Given the description of an element on the screen output the (x, y) to click on. 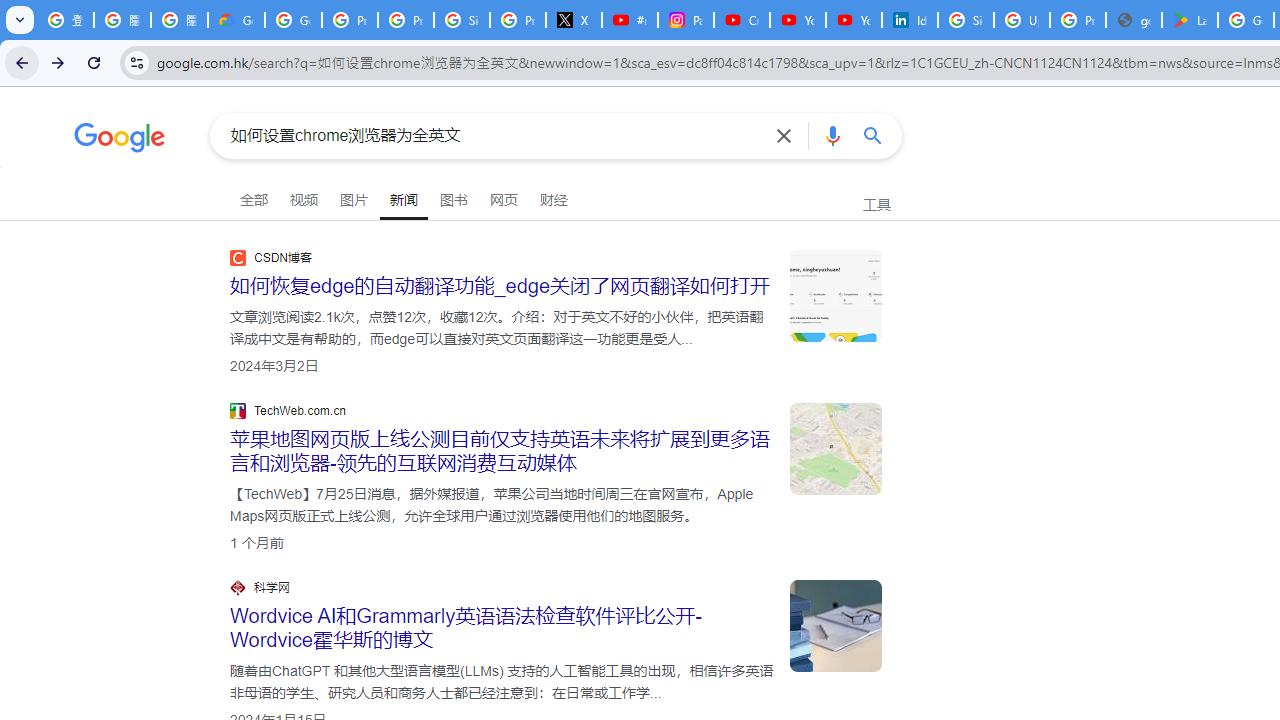
YouTube Culture & Trends - YouTube Top 10, 2021 (853, 20)
#nbabasketballhighlights - YouTube (629, 20)
